Given the description of an element on the screen output the (x, y) to click on. 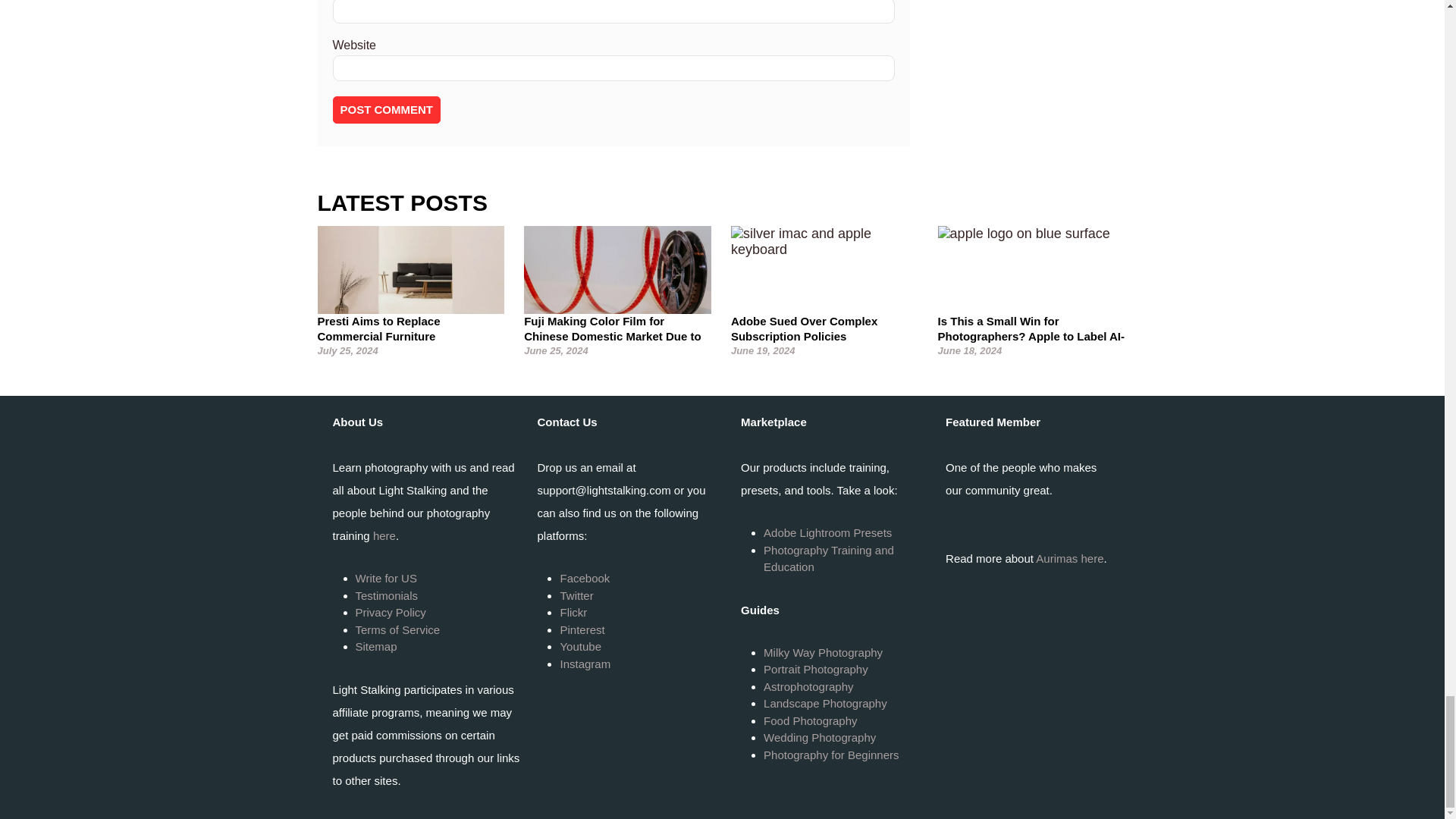
Post Comment (386, 109)
